Given the description of an element on the screen output the (x, y) to click on. 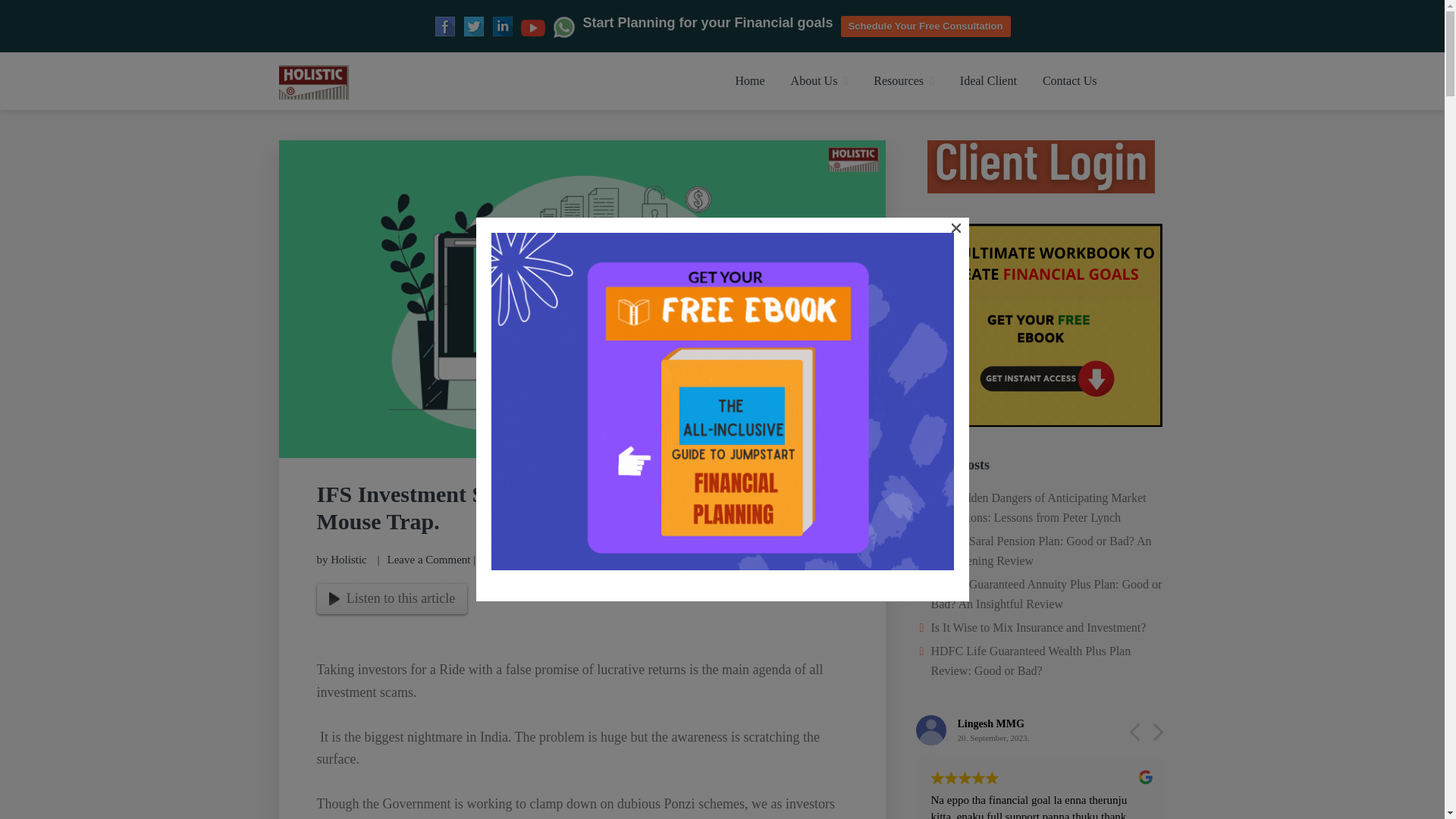
Twitter (473, 25)
LinkedIn (502, 25)
Resources (902, 80)
Client Login (1040, 166)
Youtube (531, 27)
Home (749, 80)
Ideal Client (988, 80)
Facebook (443, 25)
Schedule Your Free Consultation (925, 25)
Whatsapp (563, 26)
About Us (819, 80)
Contact Us (1069, 80)
Holistic (348, 559)
